Given the description of an element on the screen output the (x, y) to click on. 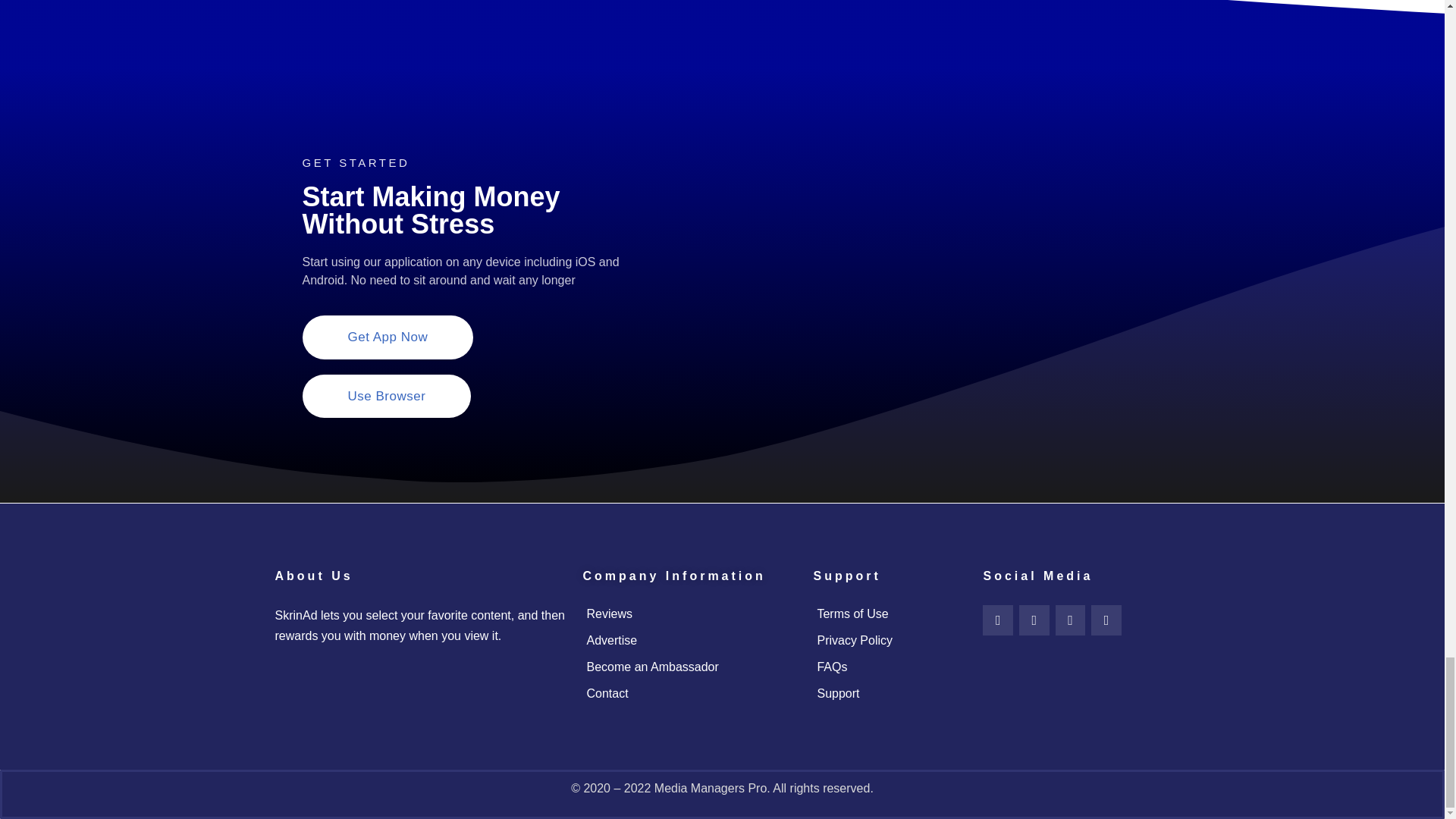
FAQs (890, 667)
Become an Ambassador (689, 667)
Support (890, 693)
Reviews (689, 614)
Contact (689, 693)
Terms of Use (890, 614)
Advertise (689, 640)
Privacy Policy (890, 640)
Use Browser (385, 396)
Get App Now (387, 337)
